Given the description of an element on the screen output the (x, y) to click on. 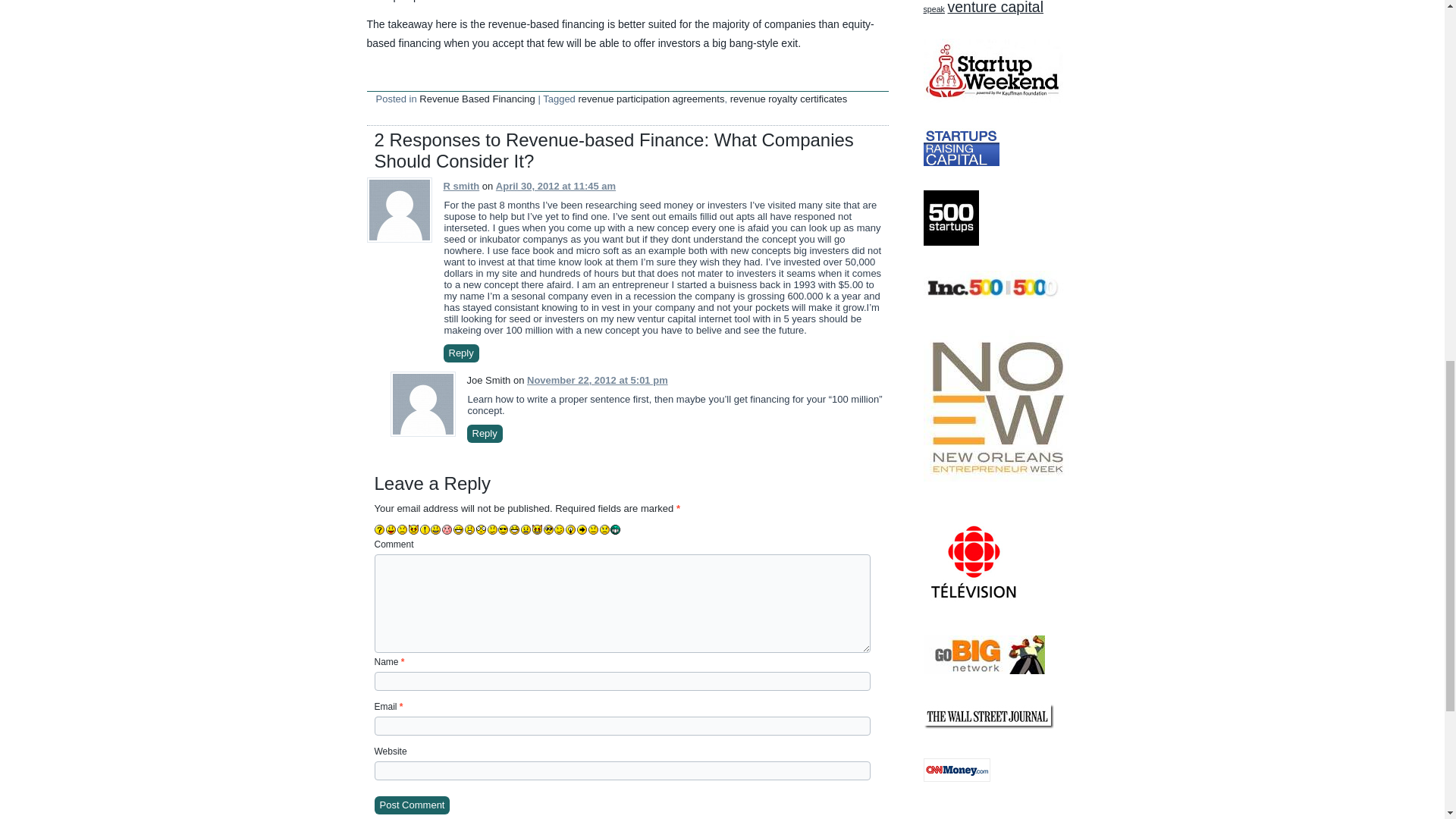
Post Comment (411, 805)
